Given the description of an element on the screen output the (x, y) to click on. 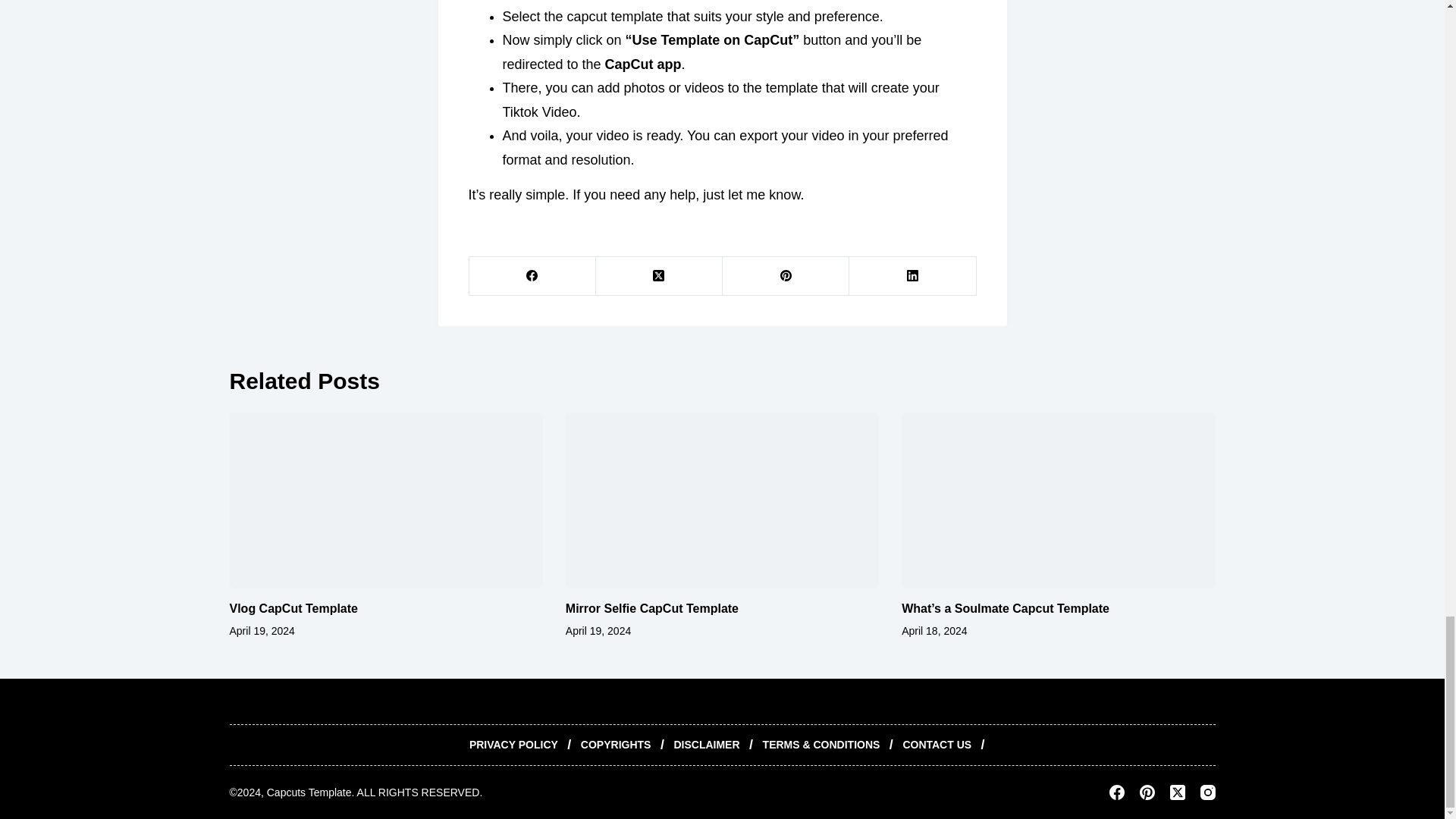
PRIVACY POLICY (513, 745)
COPYRIGHTS (615, 745)
Vlog CapCut Template (293, 608)
Mirror Selfie CapCut Template (652, 608)
